Given the description of an element on the screen output the (x, y) to click on. 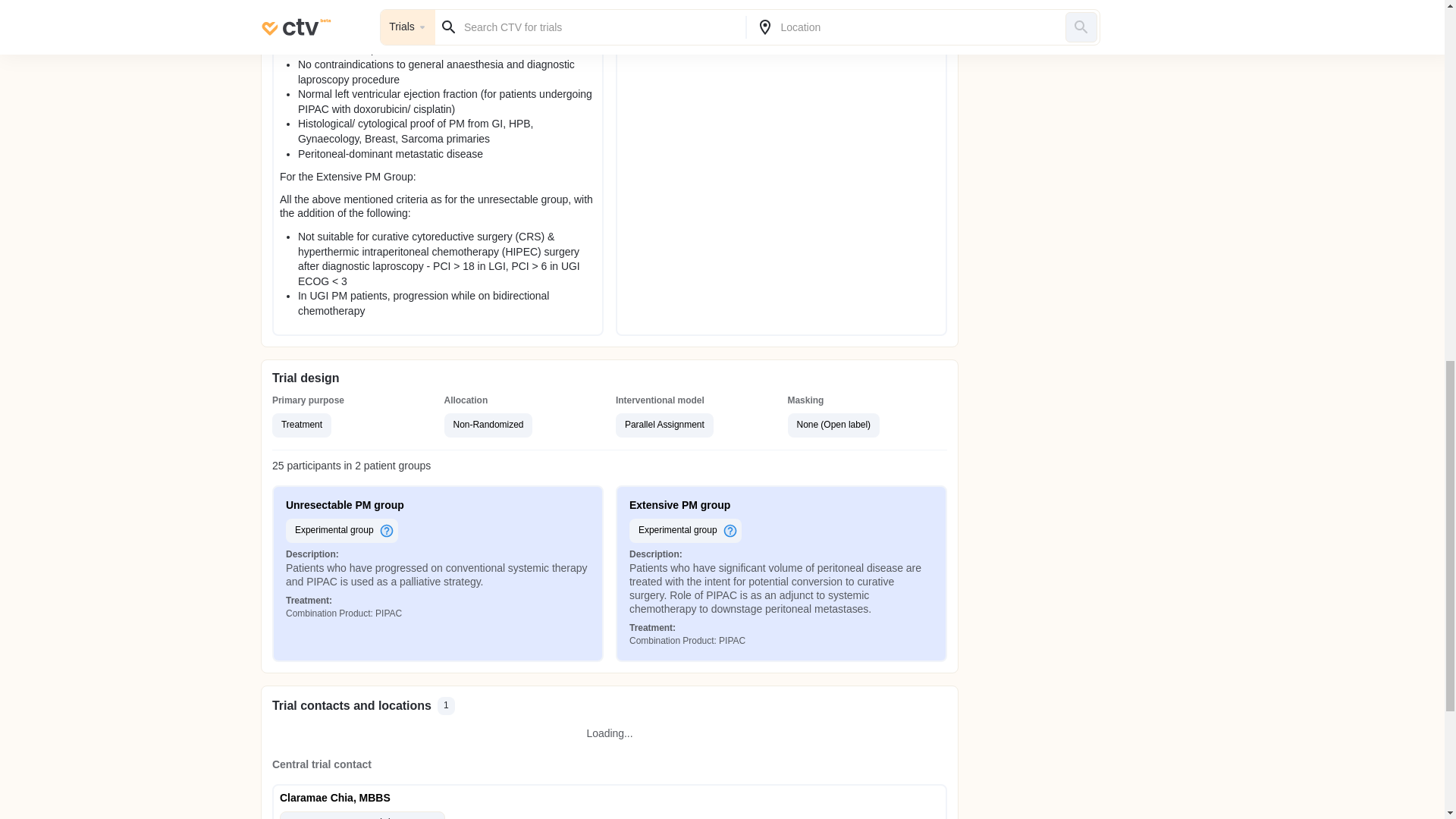
Contact trial (362, 815)
